Given the description of an element on the screen output the (x, y) to click on. 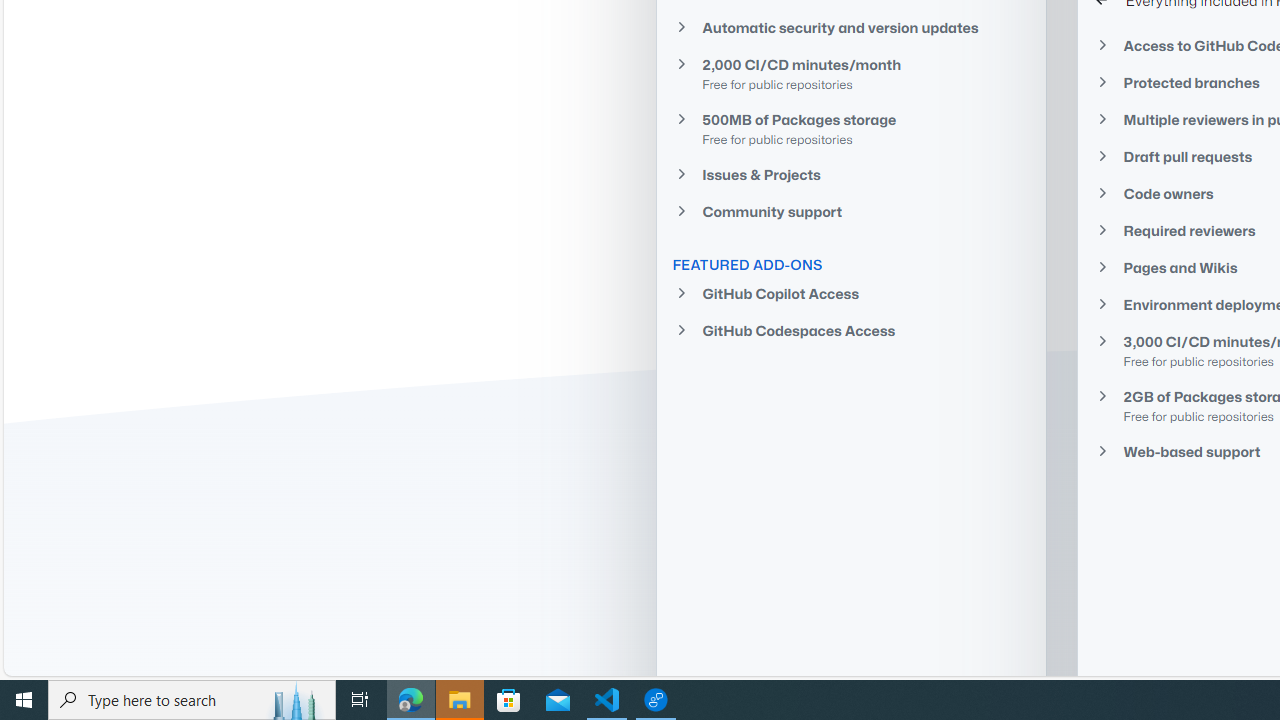
Automatic security and version updates (851, 26)
GitHub Codespaces Access (851, 330)
GitHub Codespaces Access (851, 330)
Automatic security and version updates (851, 27)
500MB of Packages storageFree for public repositories (851, 128)
GitHub Copilot Access (851, 294)
2,000 CI/CD minutes/monthFree for public repositories (851, 73)
500MB of Packages storage Free for public repositories (851, 128)
Community support (851, 211)
Issues & Projects (851, 174)
GitHub Copilot Access (851, 293)
2,000 CI/CD minutes/month Free for public repositories (851, 74)
Community support (851, 211)
Issues & Projects (851, 173)
